Given the description of an element on the screen output the (x, y) to click on. 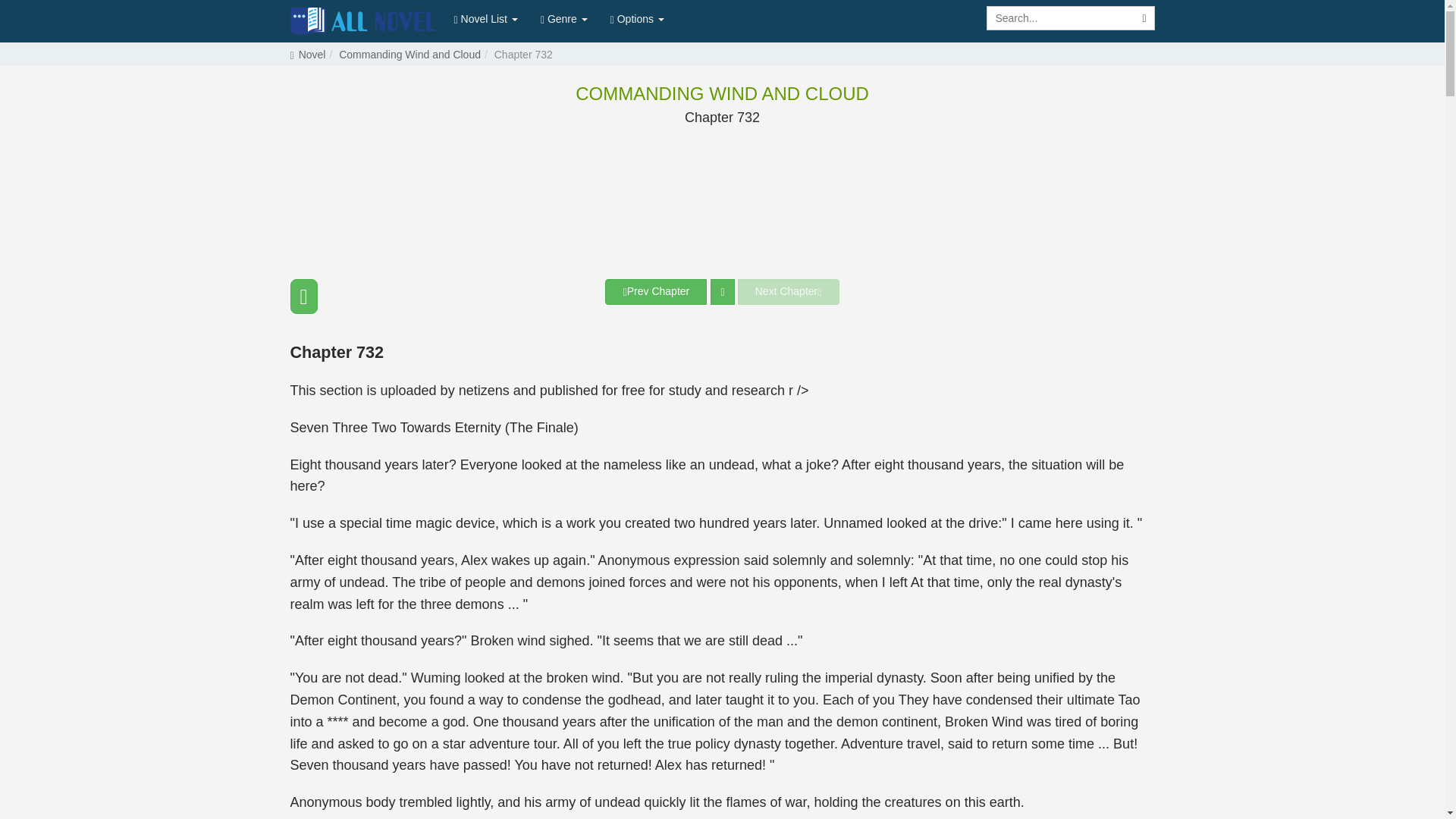
Genre (563, 18)
Read novel online (363, 21)
Novel List (485, 18)
